Given the description of an element on the screen output the (x, y) to click on. 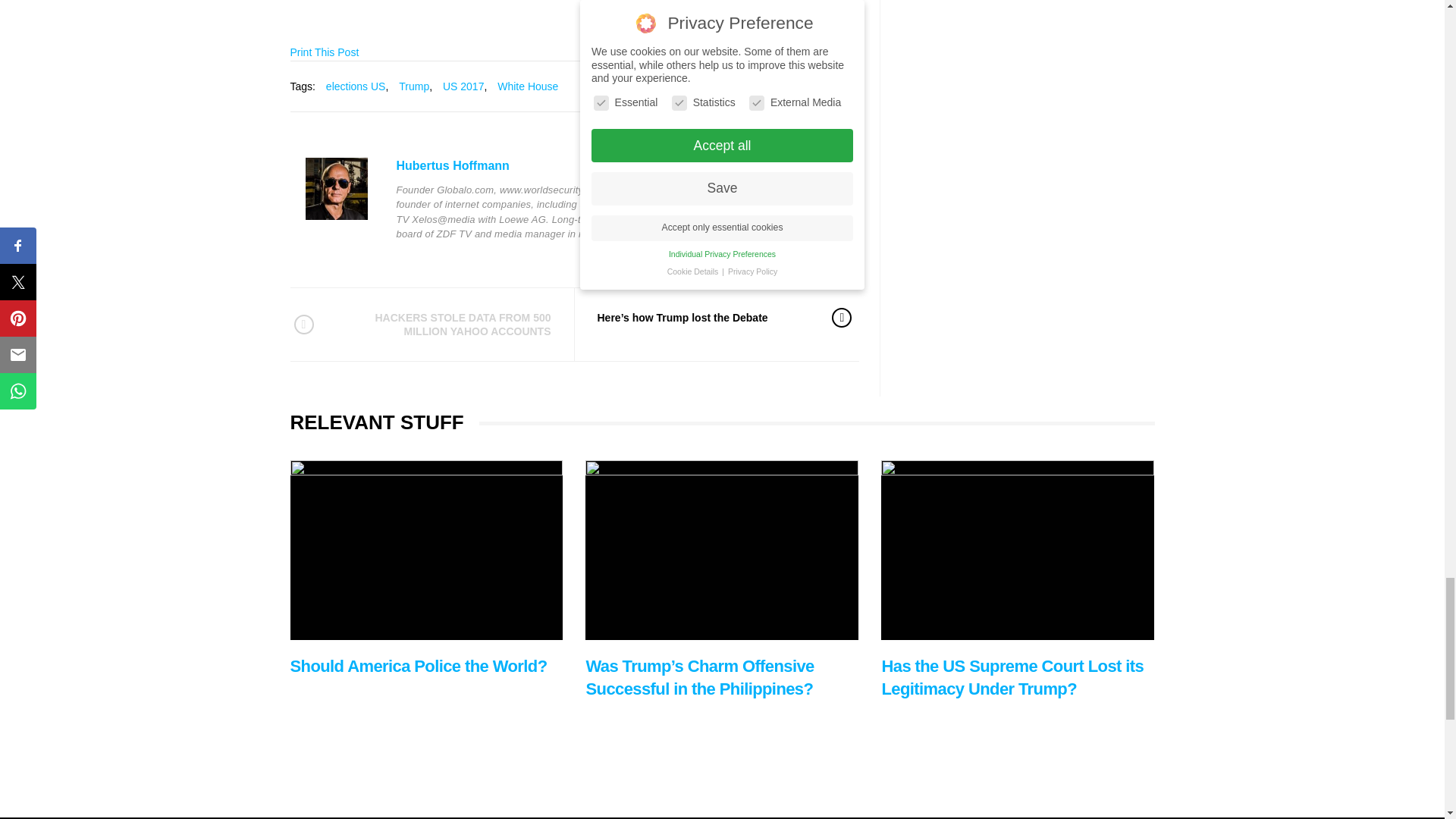
White House (527, 86)
Trump (413, 86)
Print This Post (323, 51)
US 2017 (462, 86)
Print This Post (323, 51)
elections US (355, 86)
